Given the description of an element on the screen output the (x, y) to click on. 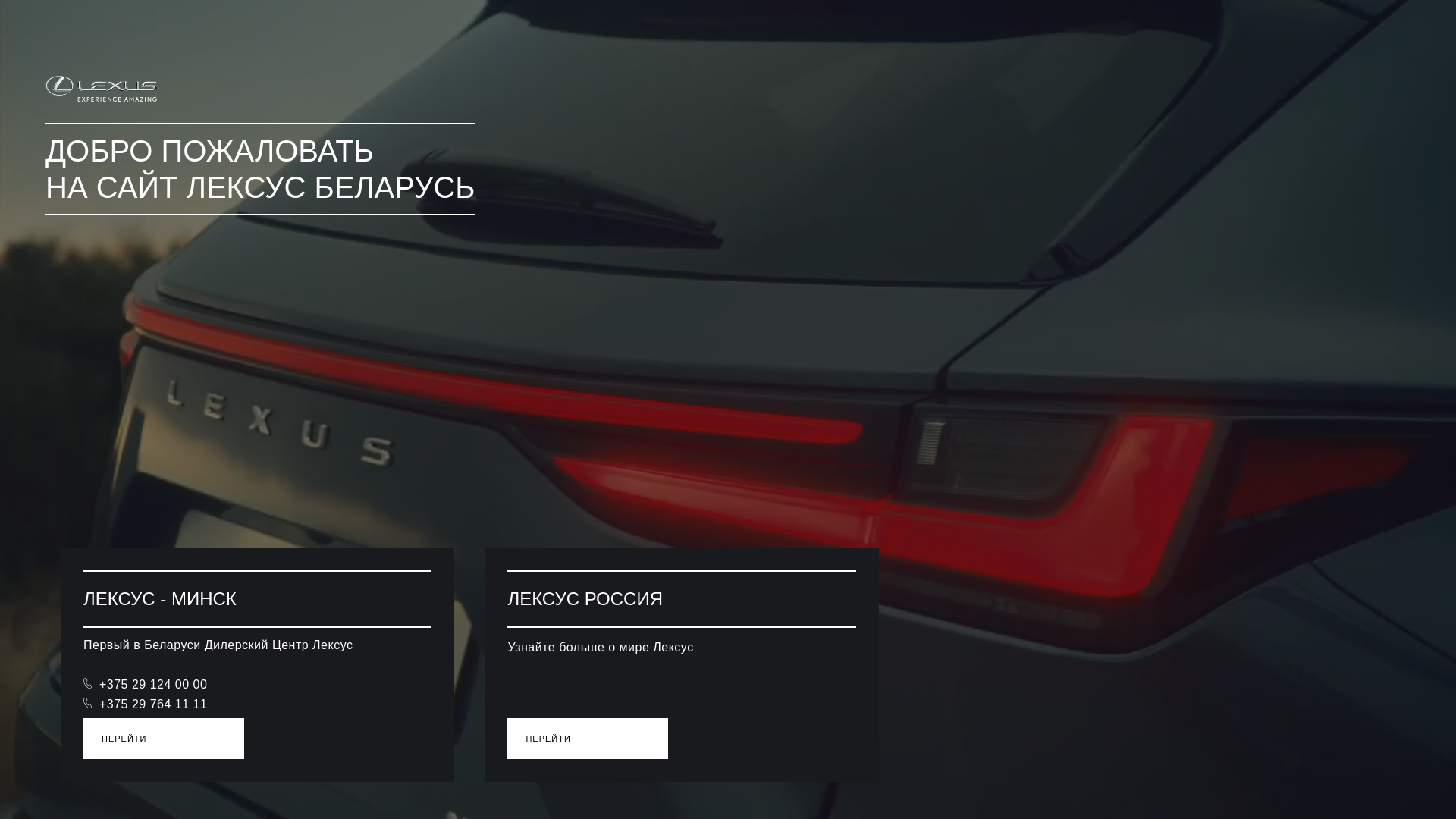
+375 29 764 11 11 Element type: text (145, 703)
+375 29 124 00 00 Element type: text (145, 683)
